Given the description of an element on the screen output the (x, y) to click on. 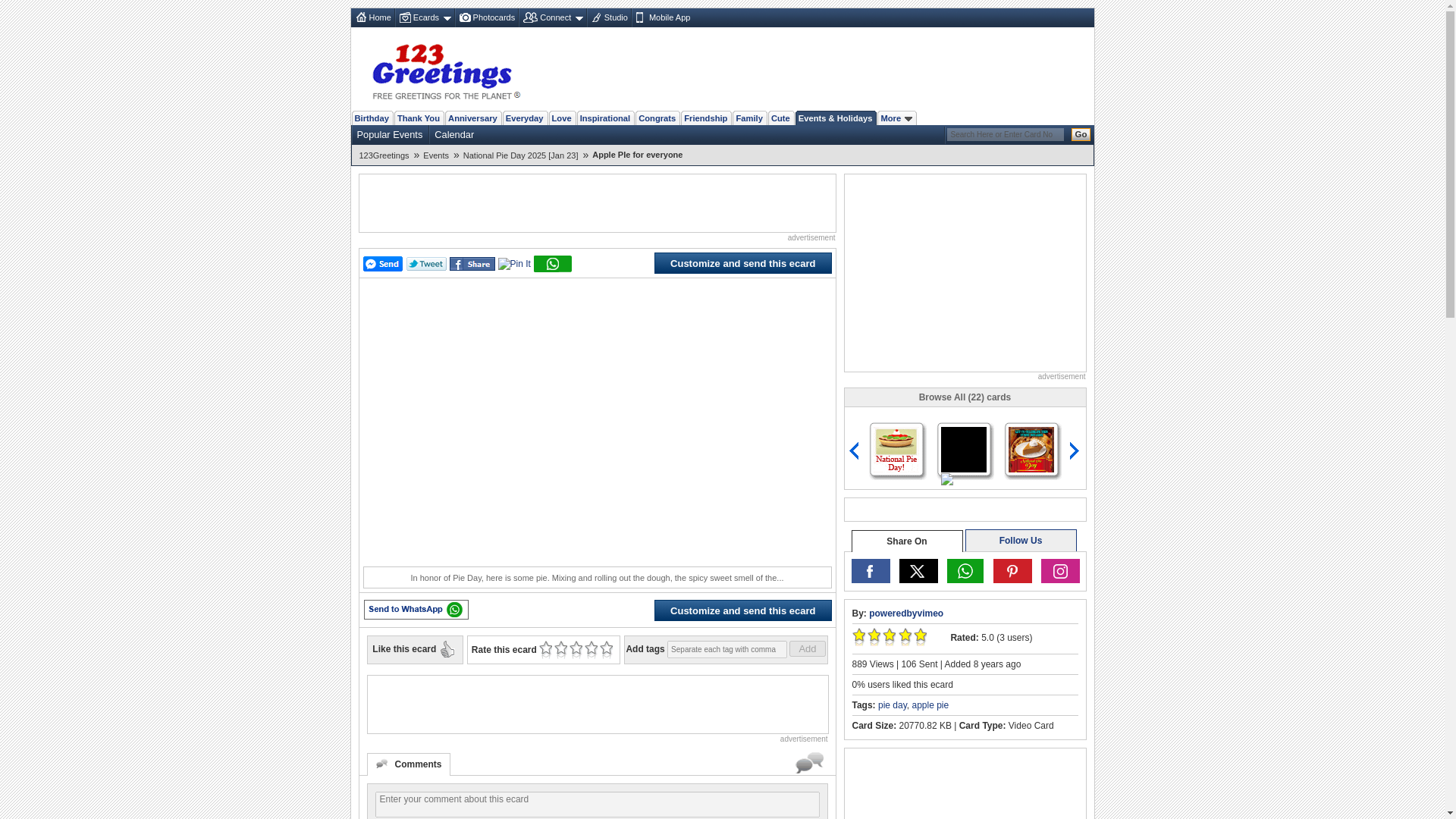
Events (437, 155)
Congrats (656, 117)
Thank You (418, 117)
Inspirational (604, 117)
Import address book or check ecards received (551, 17)
Cute Cards (780, 117)
123Greetings (386, 155)
Upload your photo and send as an ecard (486, 17)
Popular Events (389, 134)
Friendship (705, 117)
Mobile App (661, 17)
Studio (608, 17)
Home (371, 17)
Connect (551, 17)
Birthday (371, 117)
